Given the description of an element on the screen output the (x, y) to click on. 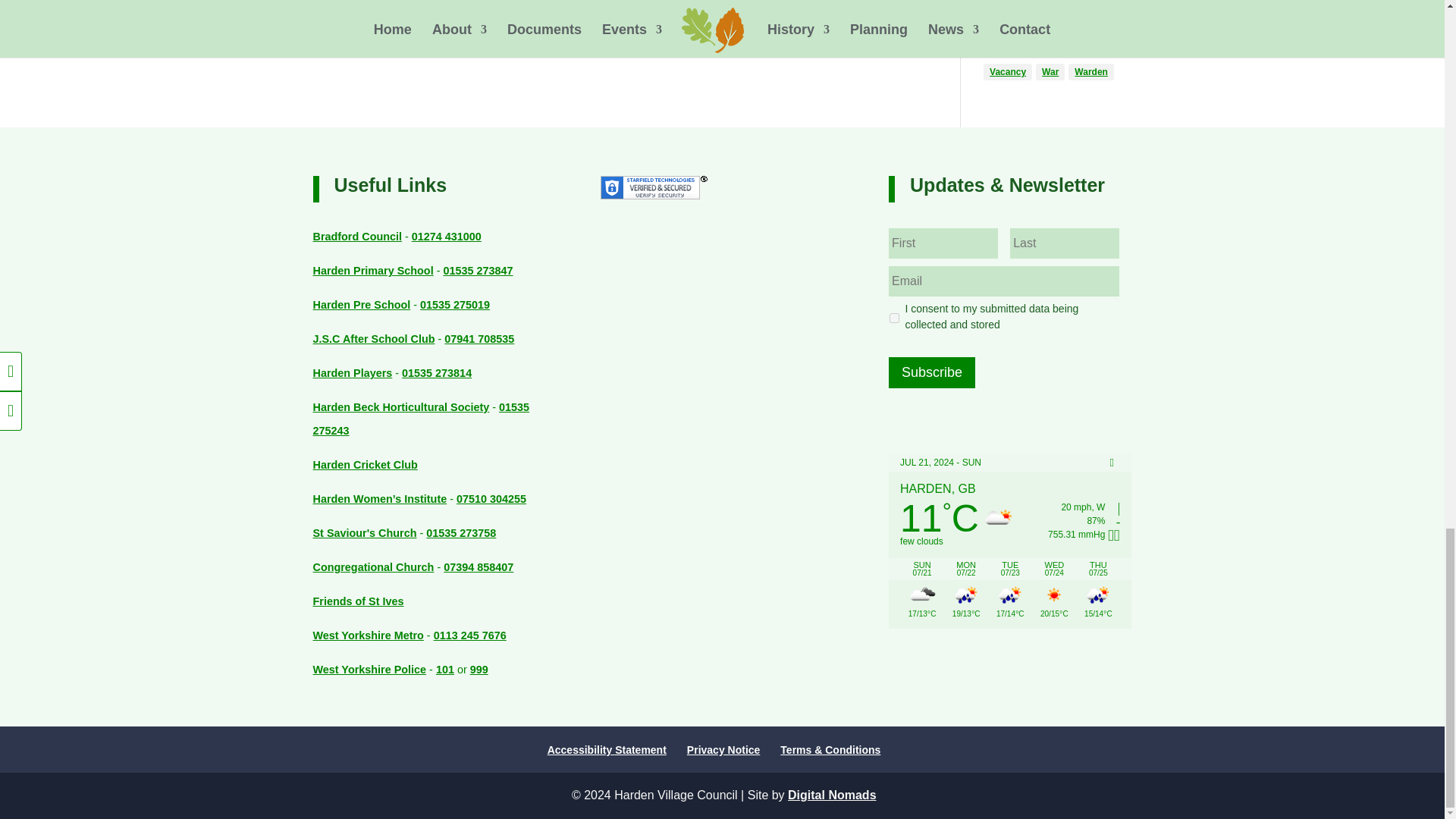
Subscribe (931, 372)
I consent to my submitted data being collected and stored (894, 317)
